Given the description of an element on the screen output the (x, y) to click on. 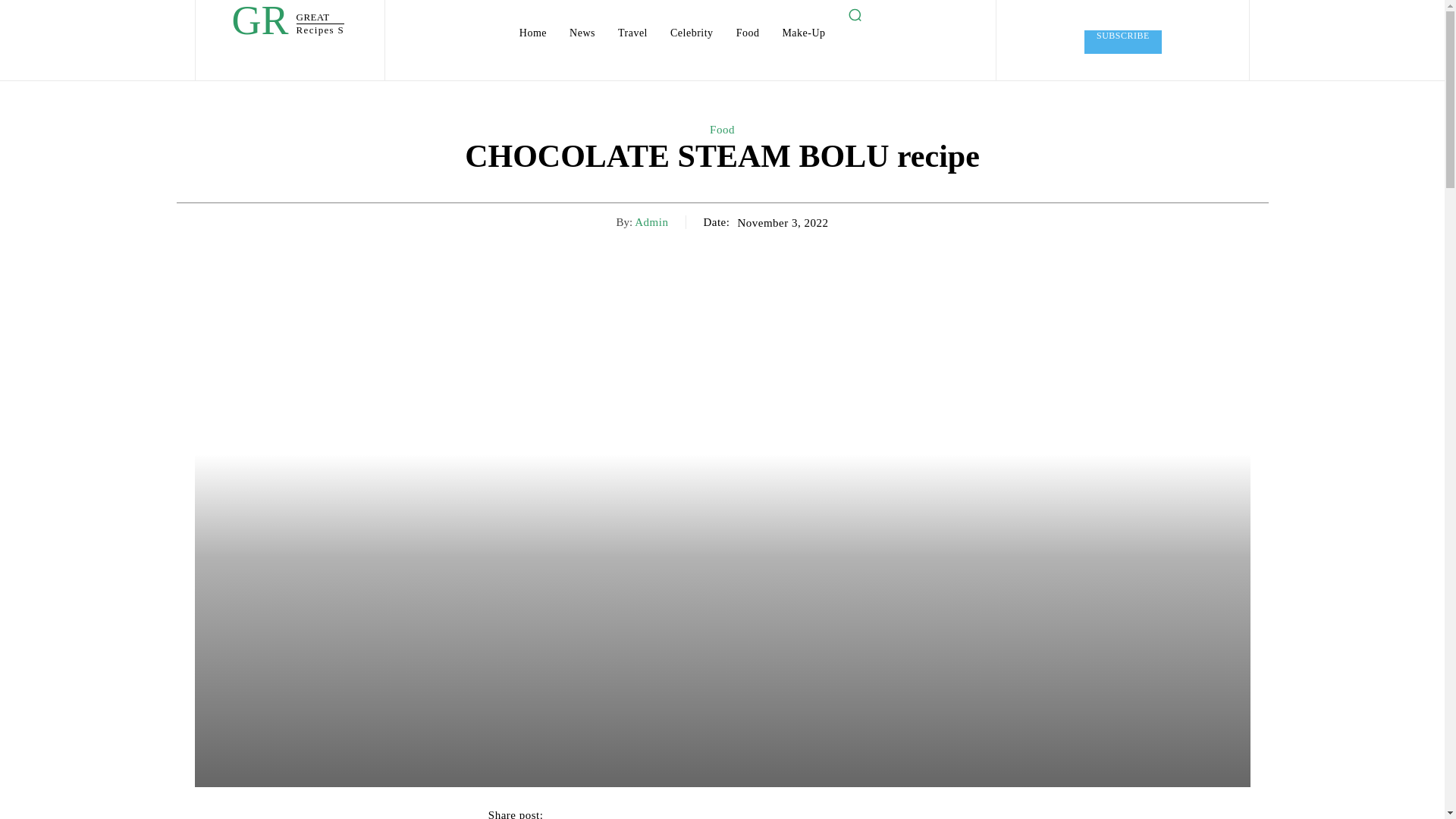
Celebrity (691, 33)
Subscribe (287, 23)
SUBSCRIBE (1122, 42)
Make-Up (1122, 42)
